Given the description of an element on the screen output the (x, y) to click on. 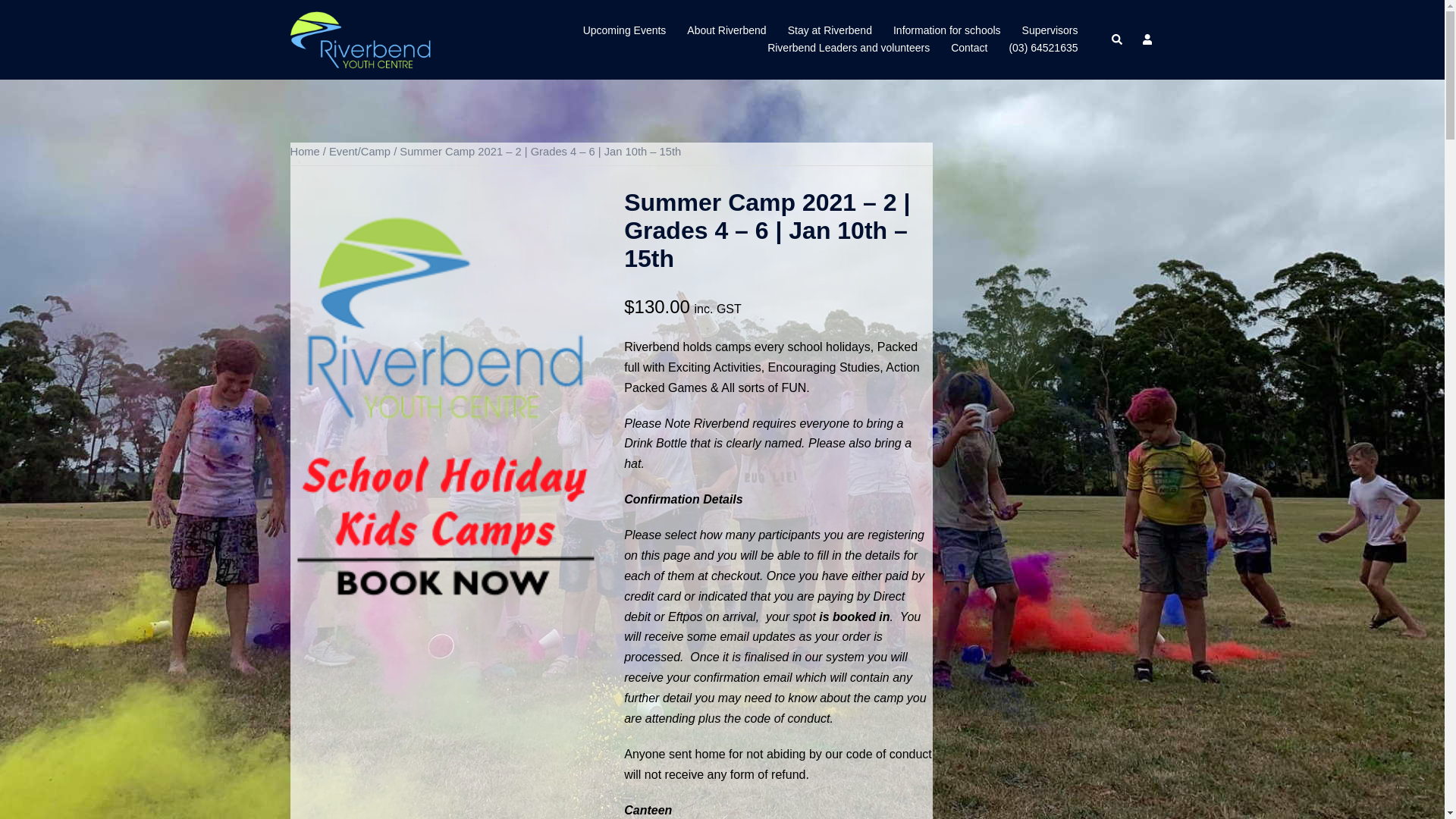
Contact Element type: text (968, 48)
Search Element type: text (1117, 39)
Riverbend Leaders and volunteers Element type: text (848, 48)
Home Element type: text (304, 151)
(03) 64521635 Element type: text (1042, 48)
About Riverbend Element type: text (726, 30)
Kids Camps Element type: hover (443, 396)
Event/Camp Element type: text (359, 151)
Supervisors Element type: text (1050, 30)
Riverbend Youth Centre Element type: hover (359, 38)
Your account Element type: hover (1148, 39)
Upcoming Events Element type: text (624, 30)
Stay at Riverbend Element type: text (829, 30)
Information for schools Element type: text (947, 30)
